Given the description of an element on the screen output the (x, y) to click on. 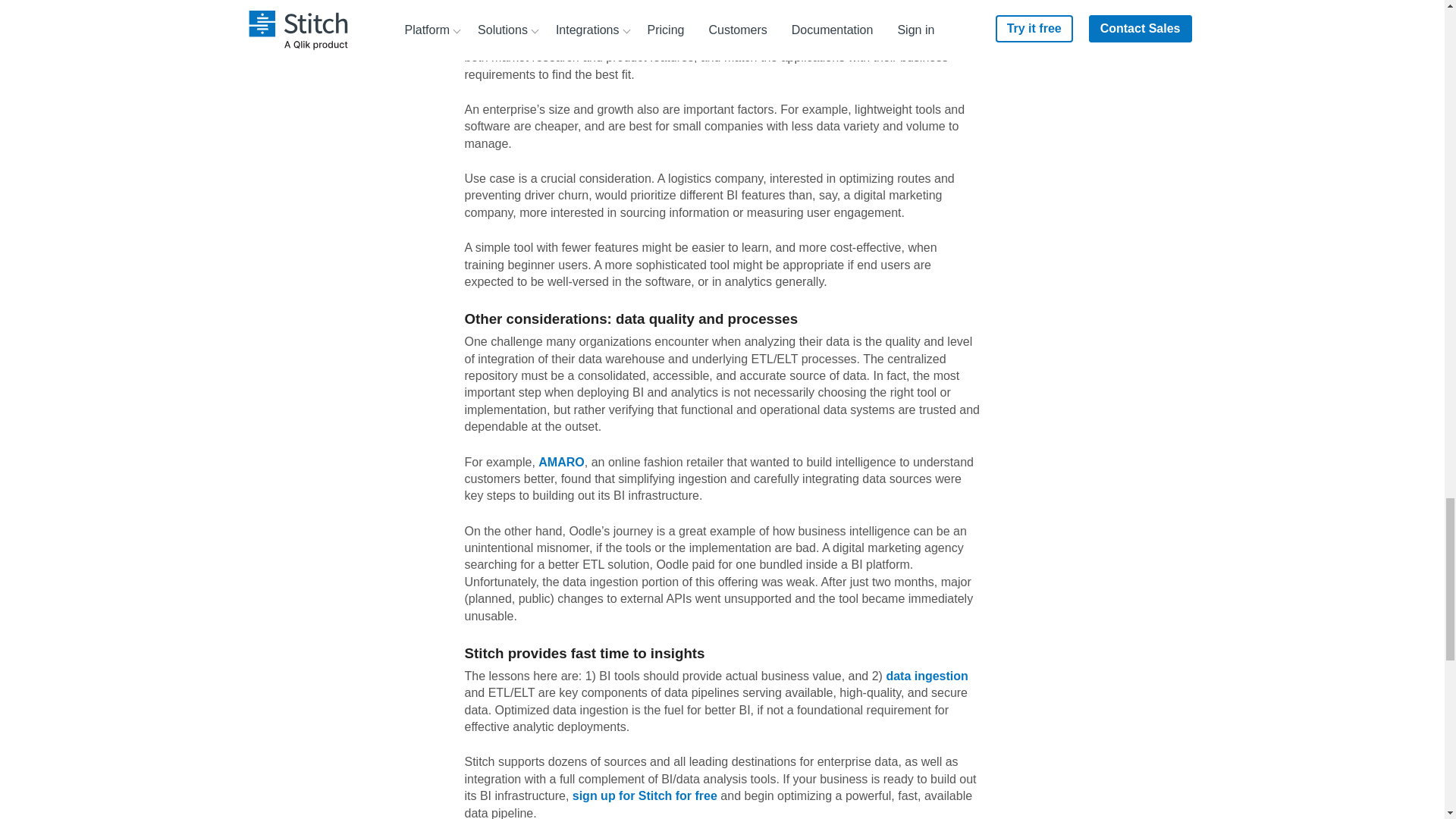
data ingestion (926, 675)
sign up for Stitch for free (644, 795)
AMARO (560, 461)
